Given the description of an element on the screen output the (x, y) to click on. 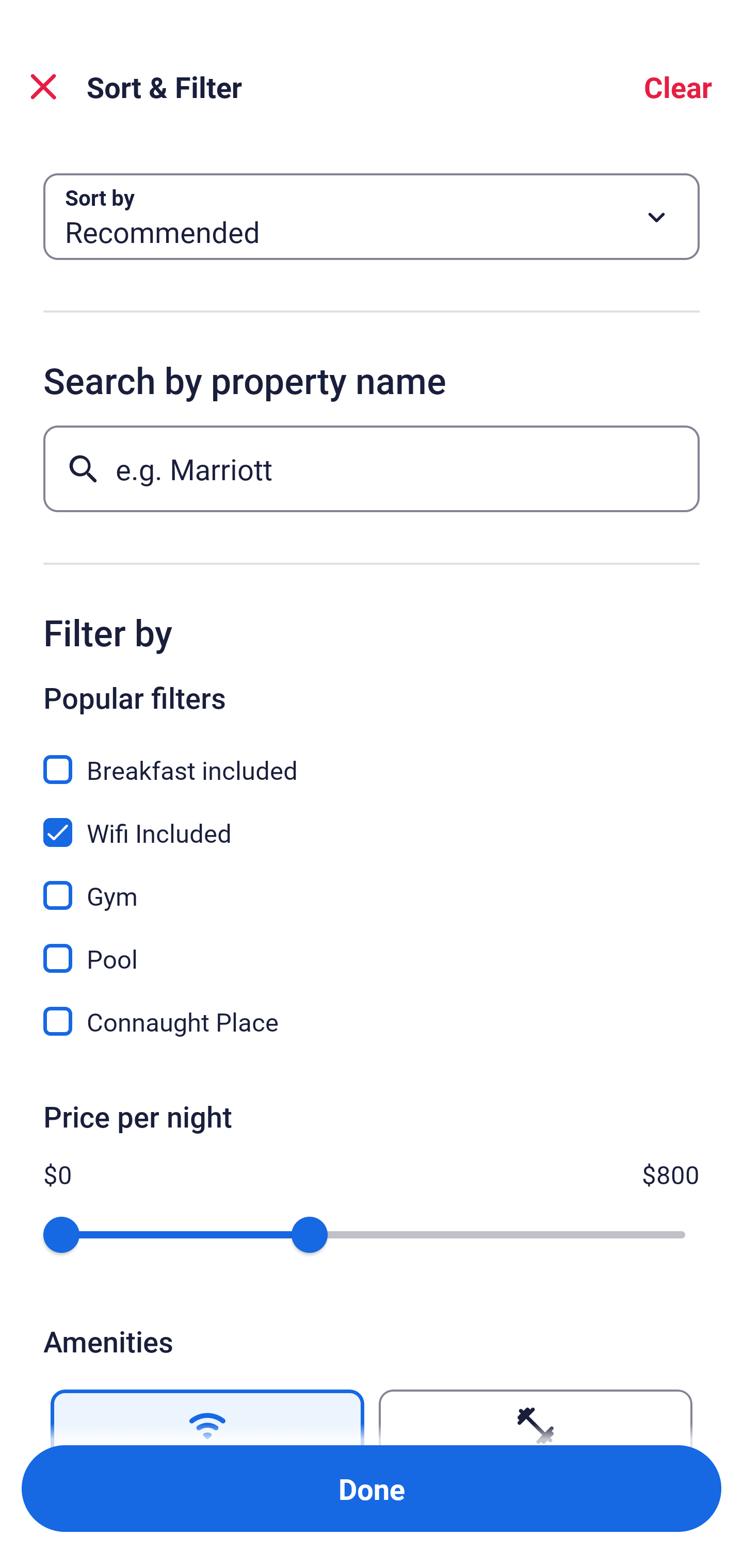
Close Sort and Filter (43, 86)
Clear (677, 86)
Sort by Button Recommended (371, 217)
e.g. Marriott Button (371, 468)
Breakfast included, Breakfast included (371, 757)
Wifi Included, Wifi Included (371, 821)
Gym, Gym (371, 883)
Pool, Pool (371, 946)
Connaught Place, Connaught Place (371, 1021)
Apply and close Sort and Filter Done (371, 1488)
